Given the description of an element on the screen output the (x, y) to click on. 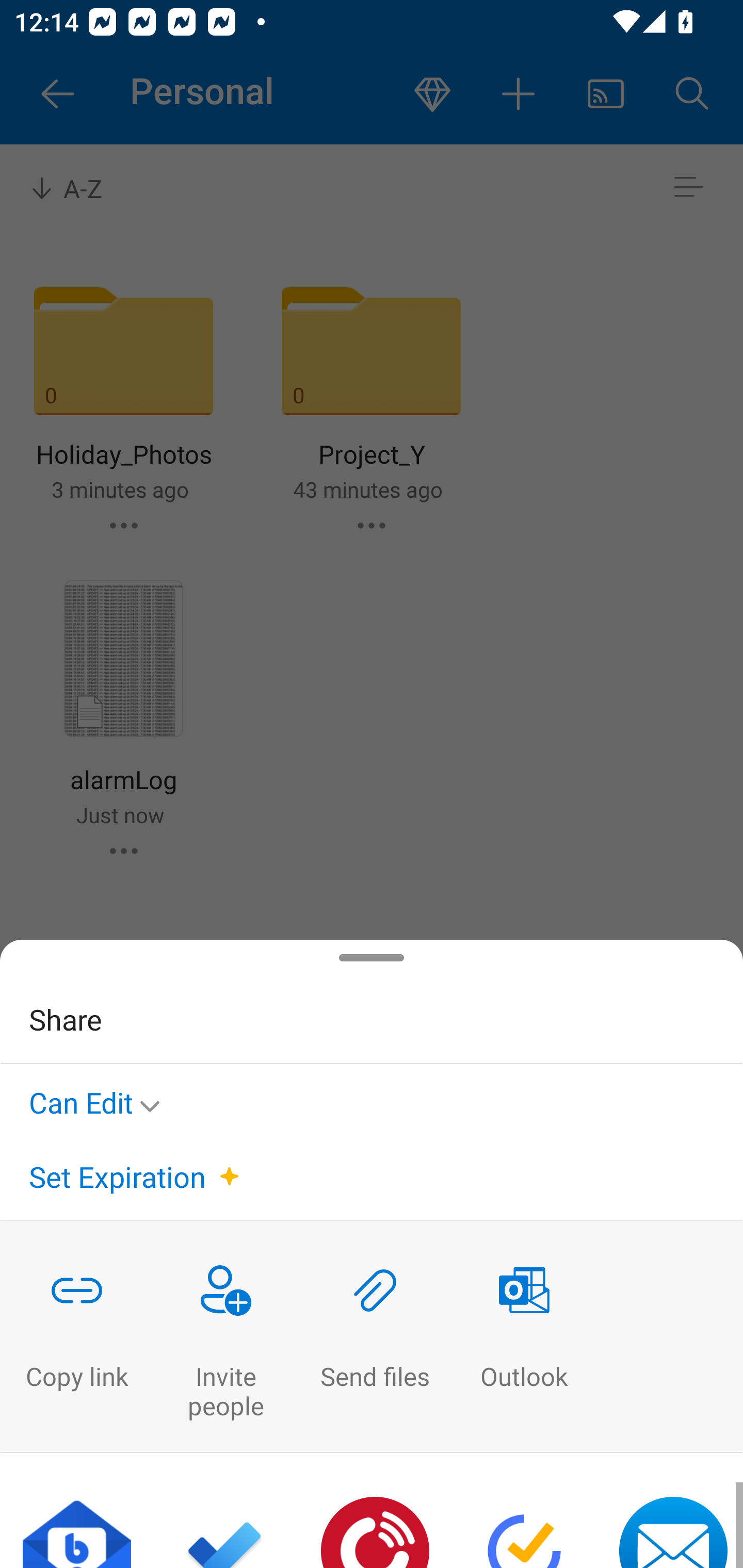
Can Edit (100, 1098)
Set Expiration (117, 1176)
Copy link (76, 1336)
Invite people (225, 1336)
Send files (374, 1336)
Outlook (523, 1336)
